Given the description of an element on the screen output the (x, y) to click on. 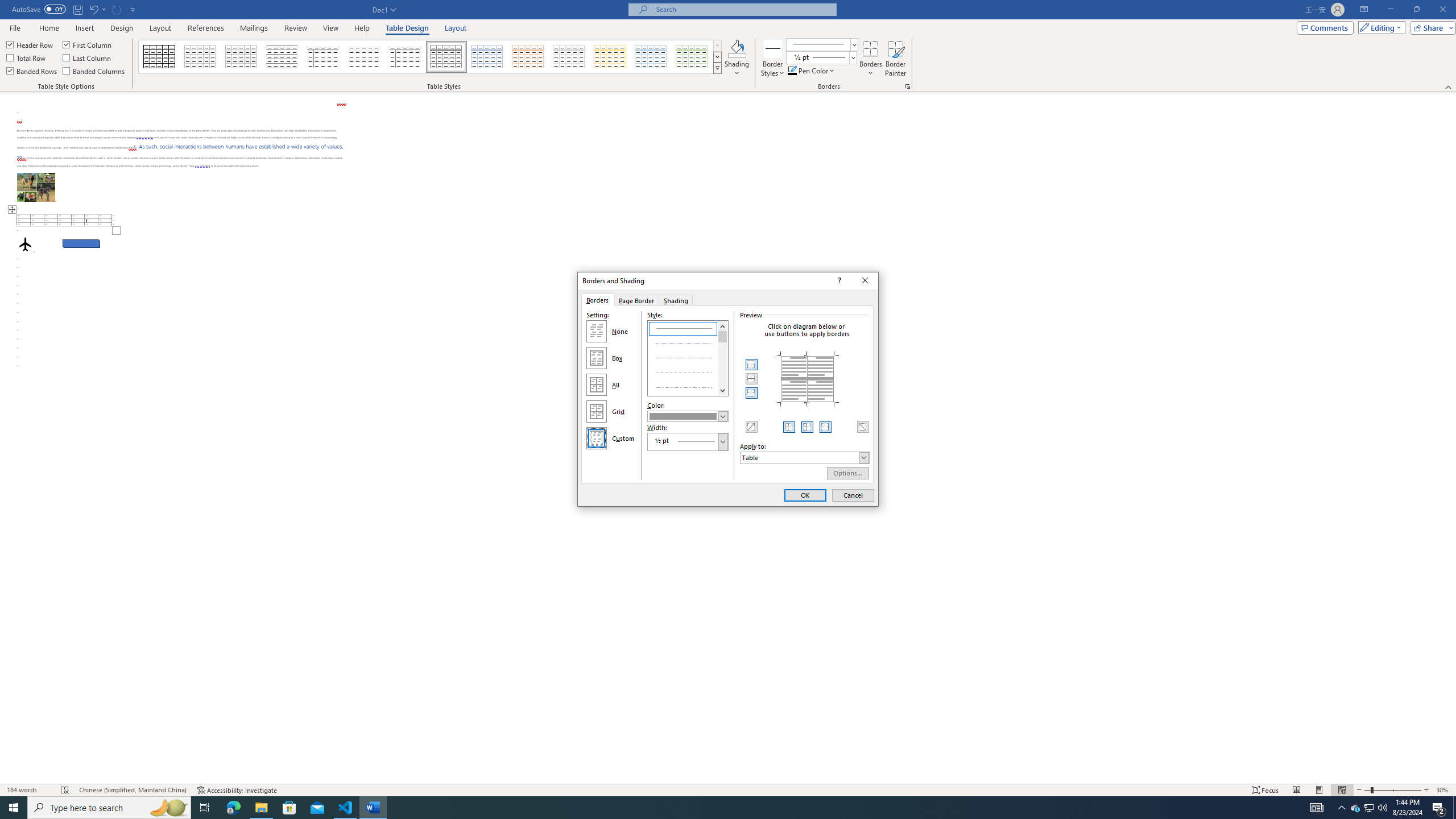
Editing (1379, 27)
Undo Row Height Spinner (96, 9)
Q2790: 100% (1382, 807)
Custom (596, 438)
Plain Table 2 (282, 56)
Diagonal Down Border (862, 426)
Shading (676, 299)
Top Border (751, 364)
Border Painter (895, 58)
Grid Table 1 Light (446, 56)
